Given the description of an element on the screen output the (x, y) to click on. 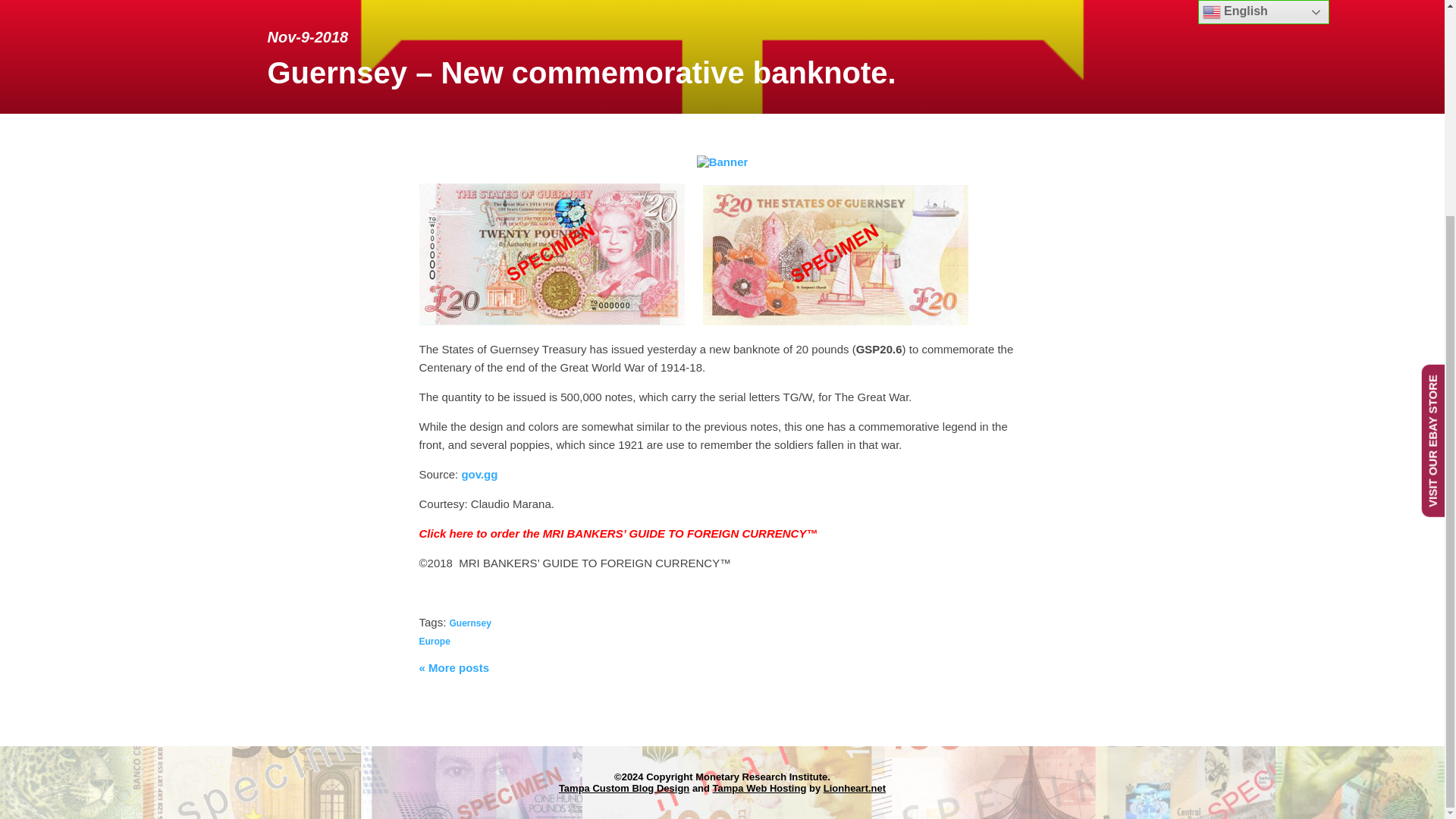
gov.gg (479, 473)
Banner (722, 161)
Tampa Web Hosting (759, 787)
Guernsey (470, 623)
Europe (434, 641)
Lionheart.net (854, 787)
Tampa Custom Blog Design (623, 787)
